Given the description of an element on the screen output the (x, y) to click on. 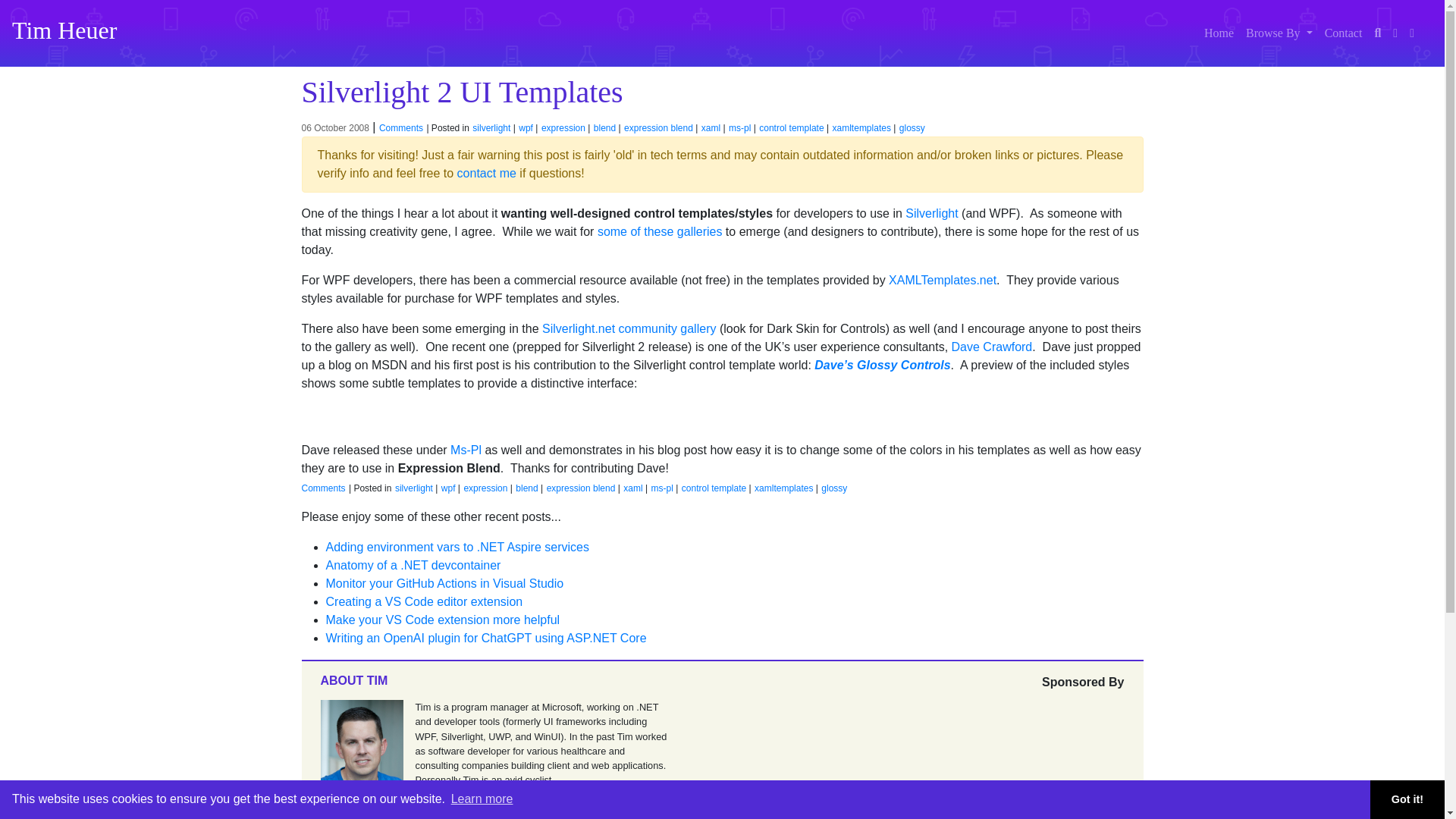
Silverlight (931, 213)
some of these galleries (659, 231)
xamltemplates (861, 127)
Browse By (1279, 33)
Home (1219, 33)
Ms-Pl (465, 449)
XAMLTemplates.net (941, 279)
blend (604, 127)
Contact (1343, 33)
Silverlight.net community gallery (628, 328)
blend (526, 488)
silverlight (491, 127)
expression blend (658, 127)
contact me (486, 173)
Comments (323, 488)
